Given the description of an element on the screen output the (x, y) to click on. 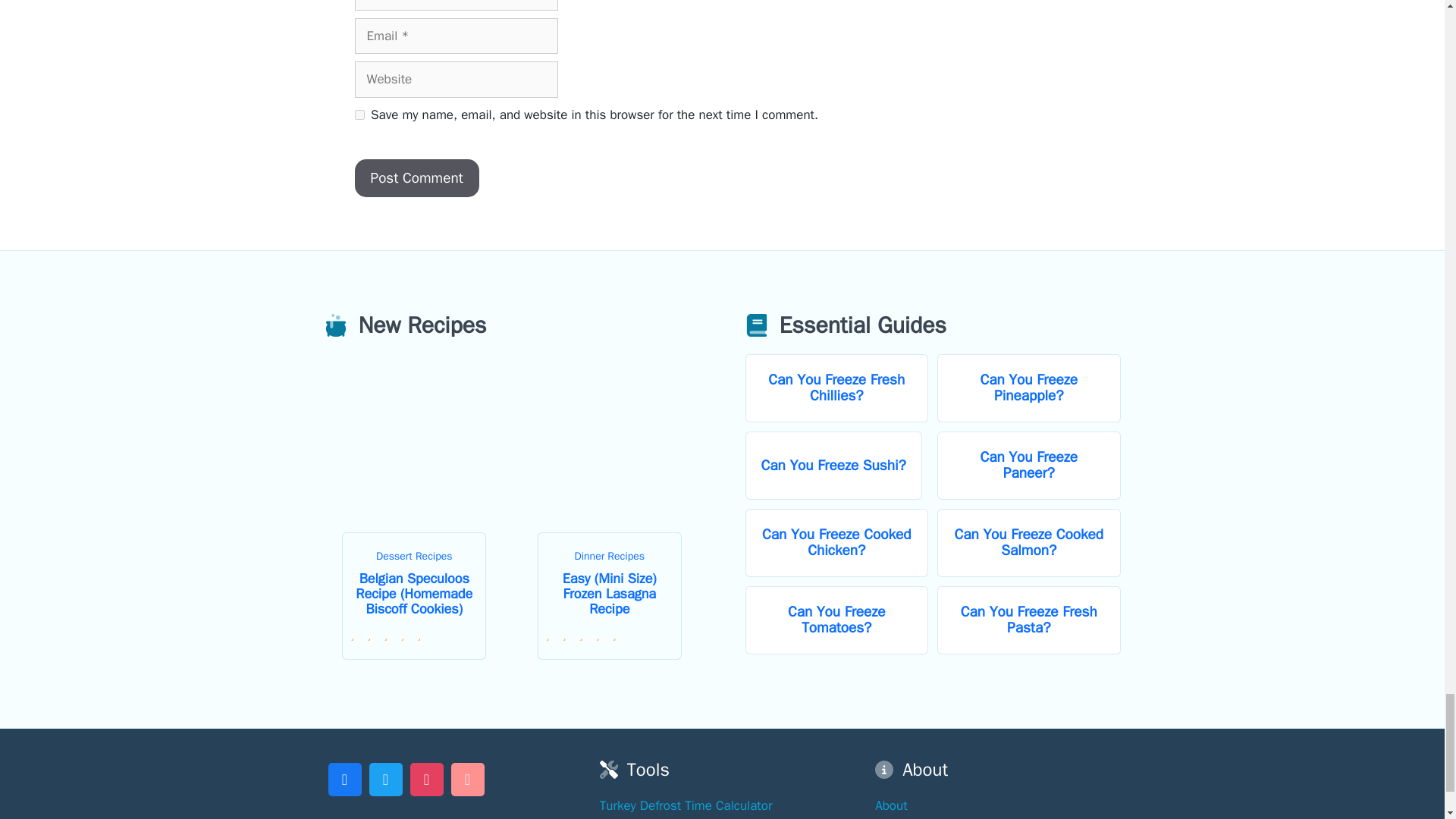
Facebook (344, 777)
Instagram (426, 777)
Youtube (466, 777)
Post Comment (417, 178)
yes (360, 114)
Twitter (385, 777)
